Given the description of an element on the screen output the (x, y) to click on. 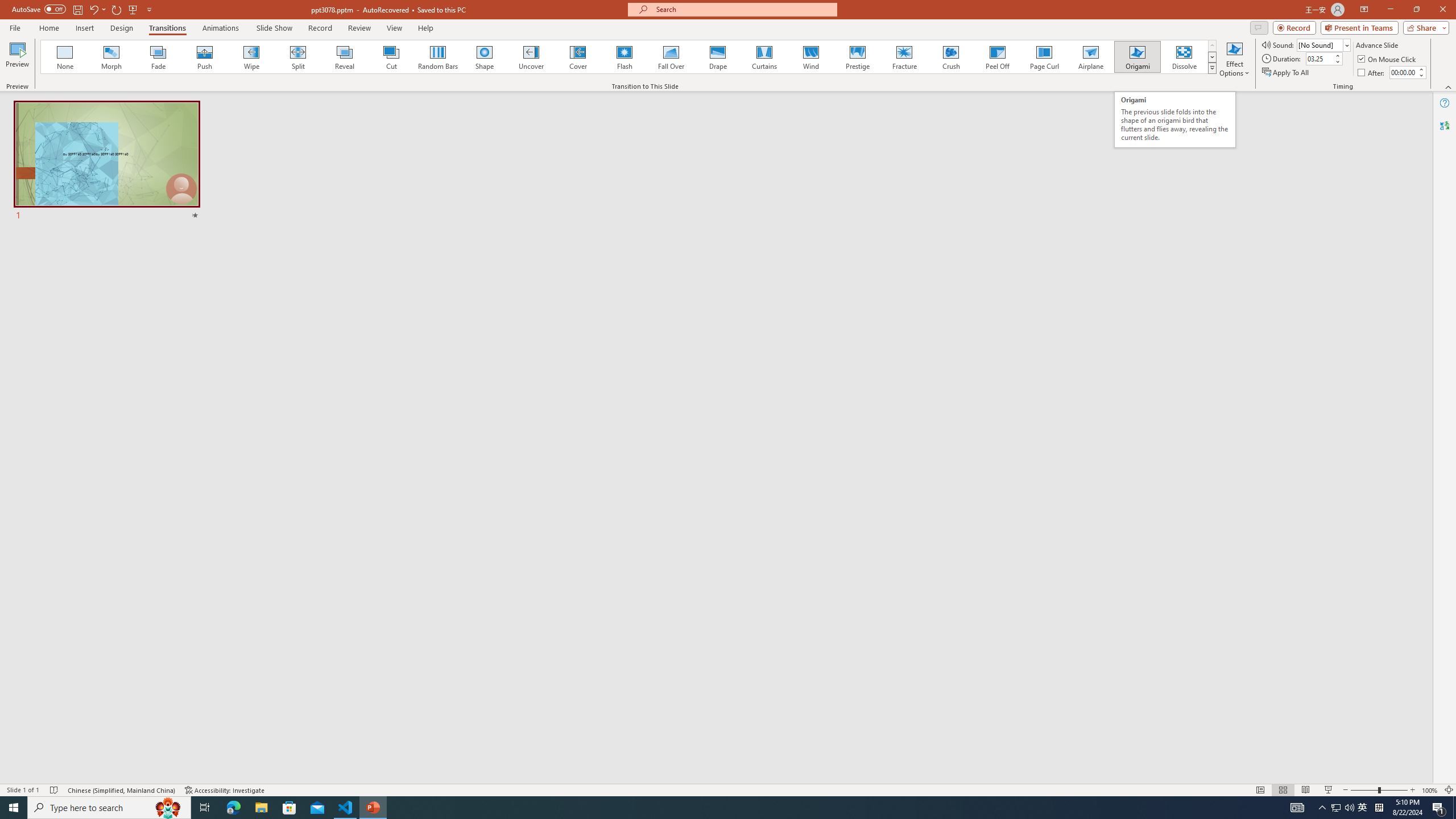
Push (205, 56)
Uncover (531, 56)
Morph (111, 56)
Cover (577, 56)
Split (298, 56)
